Given the description of an element on the screen output the (x, y) to click on. 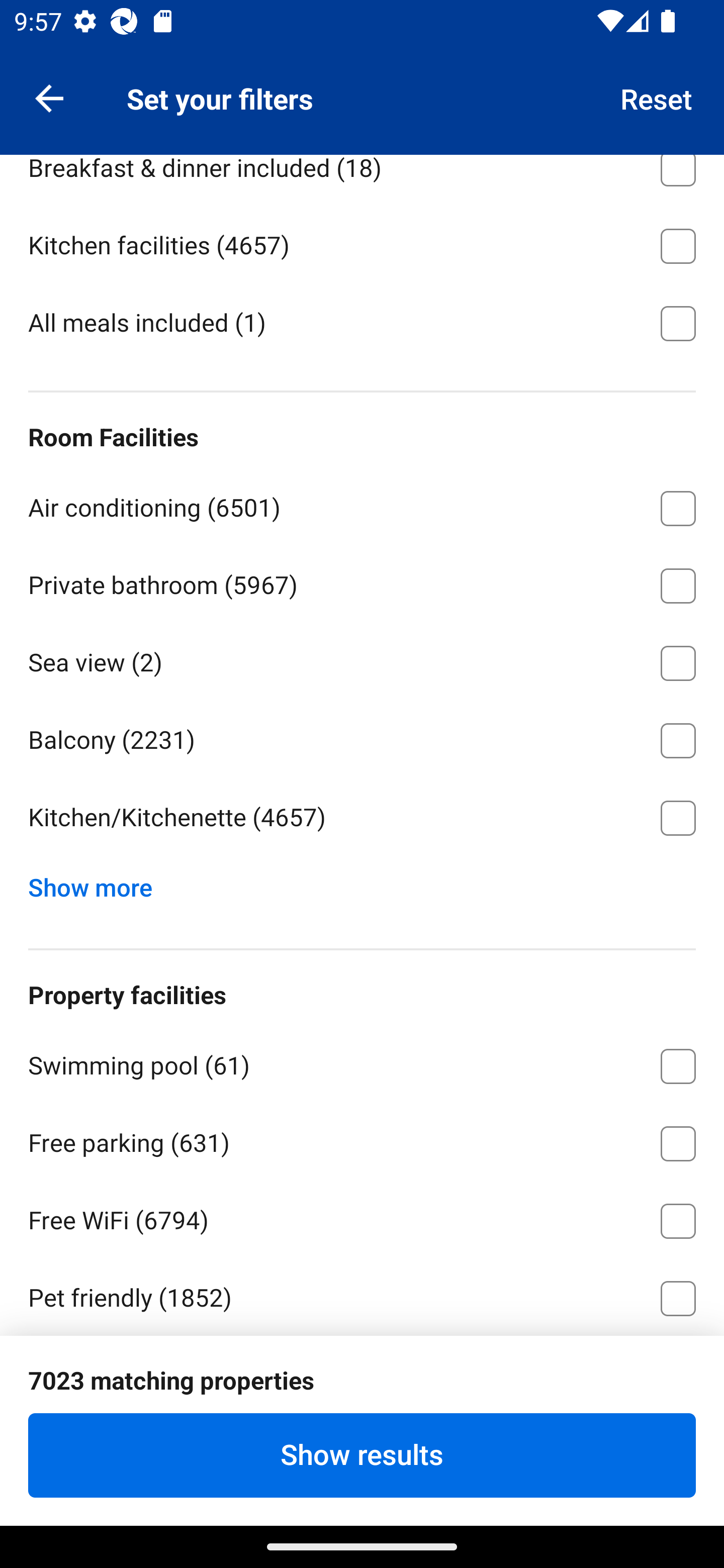
Navigate up (49, 97)
All-inclusive ⁦(1) (361, 87)
Reset (656, 97)
Breakfast & dinner included ⁦(18) (361, 179)
Kitchen facilities ⁦(4657) (361, 241)
All meals included ⁦(1) (361, 321)
Air conditioning ⁦(6501) (361, 504)
Private bathroom ⁦(5967) (361, 582)
Sea view ⁦(2) (361, 659)
Balcony ⁦(2231) (361, 737)
Kitchen/Kitchenette ⁦(4657) (361, 818)
Show more (97, 883)
Swimming pool ⁦(61) (361, 1062)
Free parking ⁦(631) (361, 1140)
Free WiFi ⁦(6794) (361, 1217)
Pet friendly ⁦(1852) (361, 1294)
Show results (361, 1454)
